Given the description of an element on the screen output the (x, y) to click on. 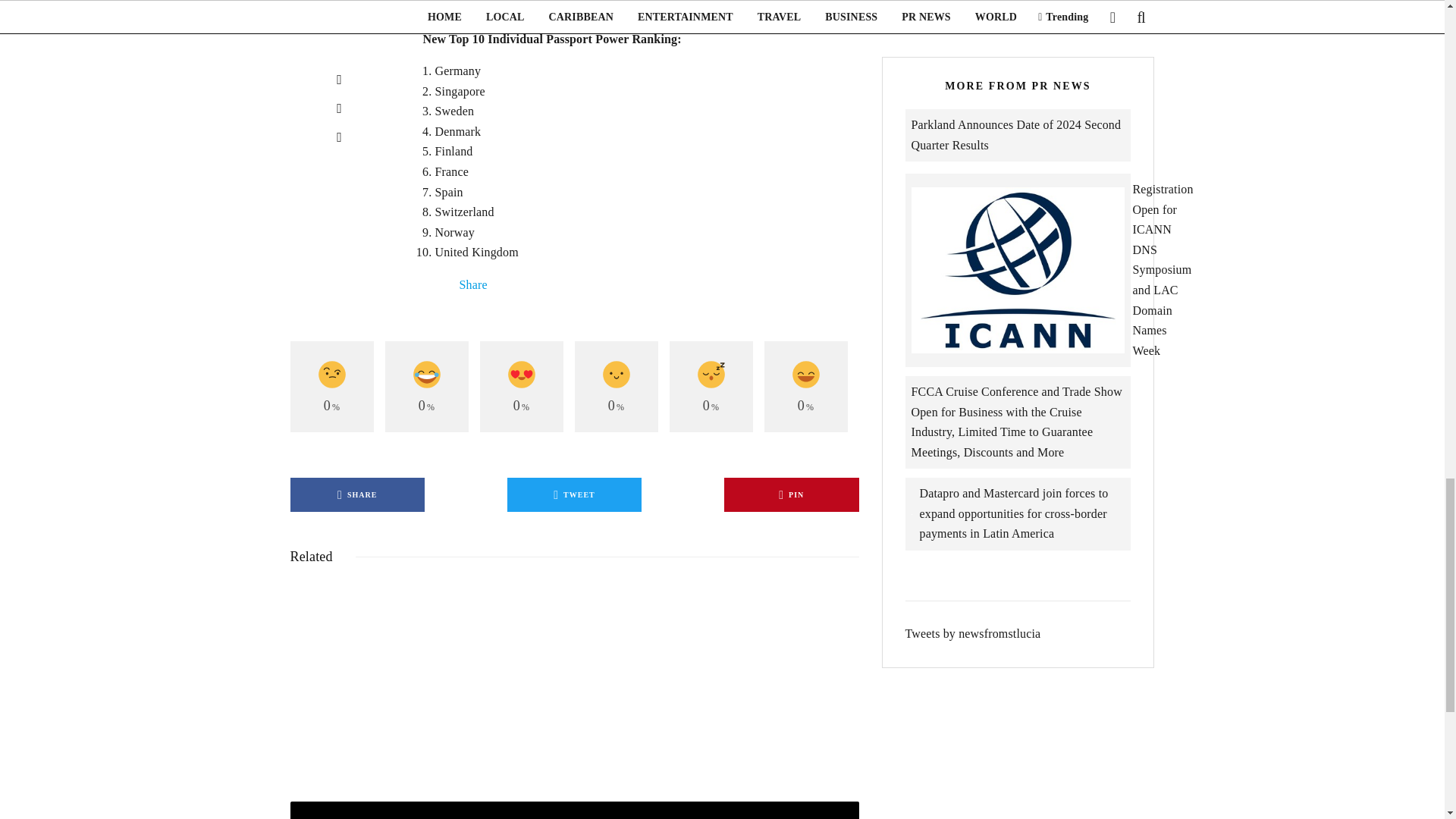
Facebook (429, 284)
Twitter (440, 284)
